Given the description of an element on the screen output the (x, y) to click on. 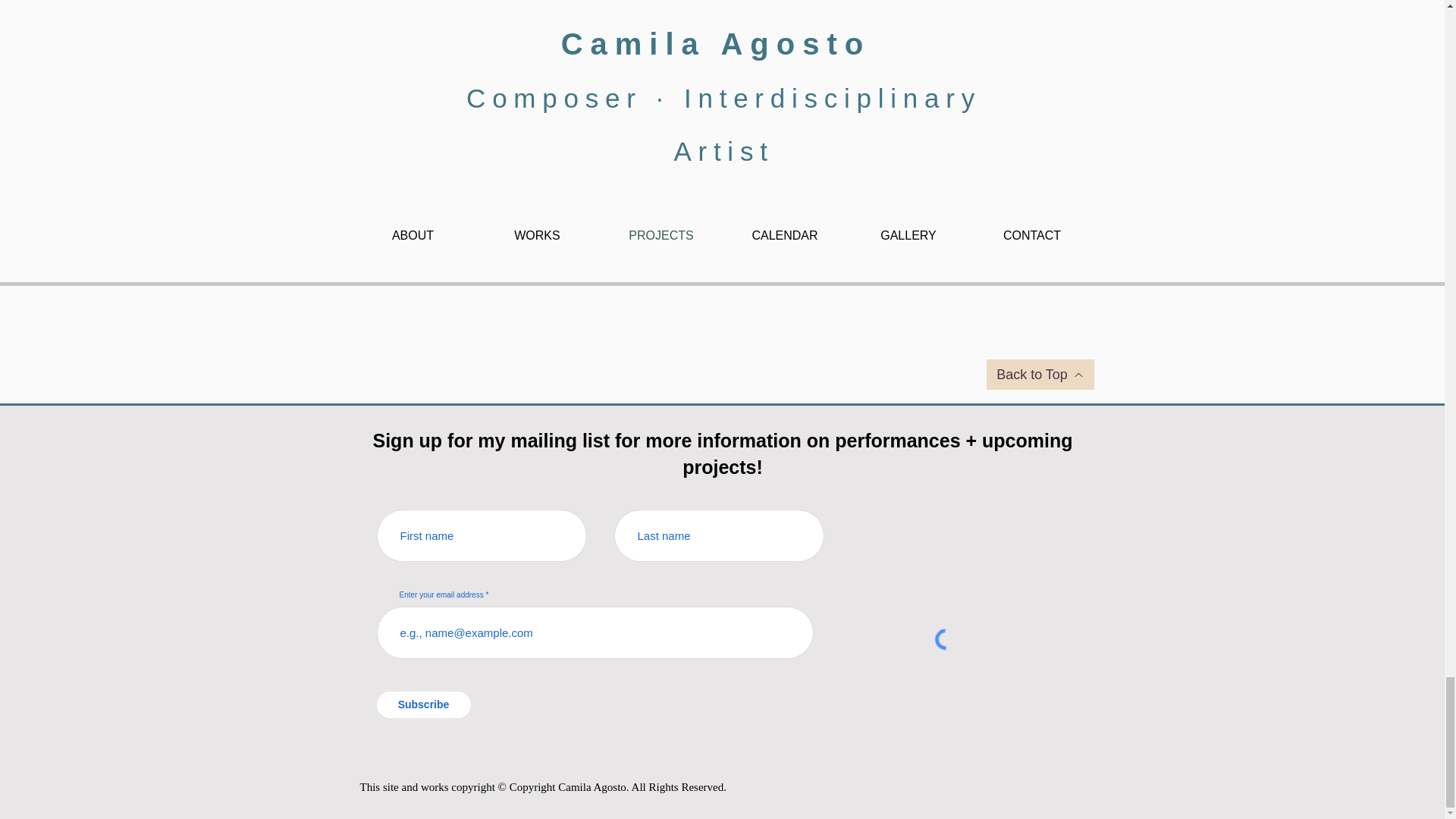
Back to Top (1039, 374)
Subscribe (422, 704)
